Given the description of an element on the screen output the (x, y) to click on. 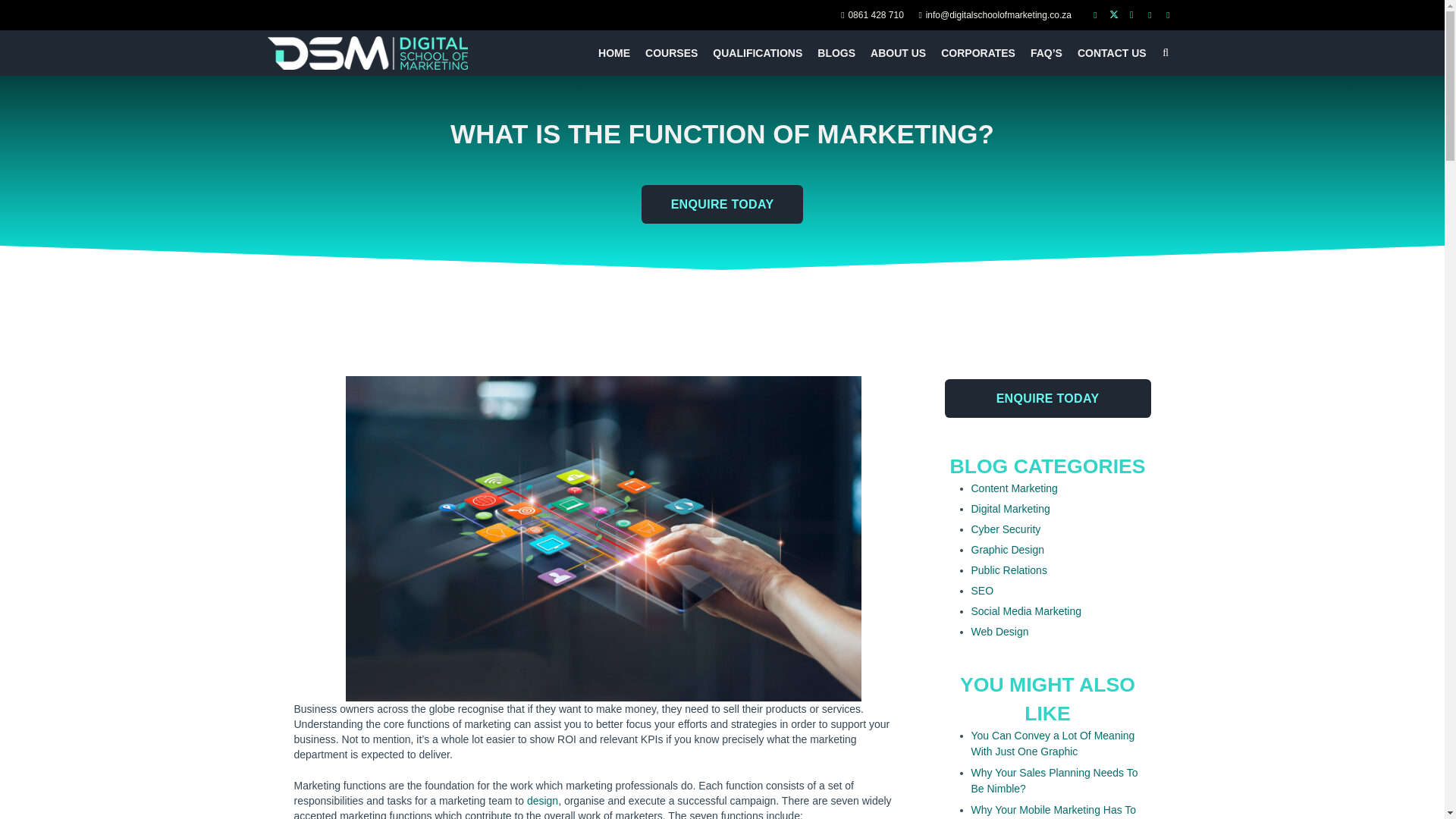
Twitter (1112, 14)
LinkedIn (1167, 14)
0861 428 710 (872, 14)
Facebook (1094, 14)
Instagram (1131, 14)
HOME (614, 53)
COURSES (670, 53)
YouTube (1149, 14)
